Given the description of an element on the screen output the (x, y) to click on. 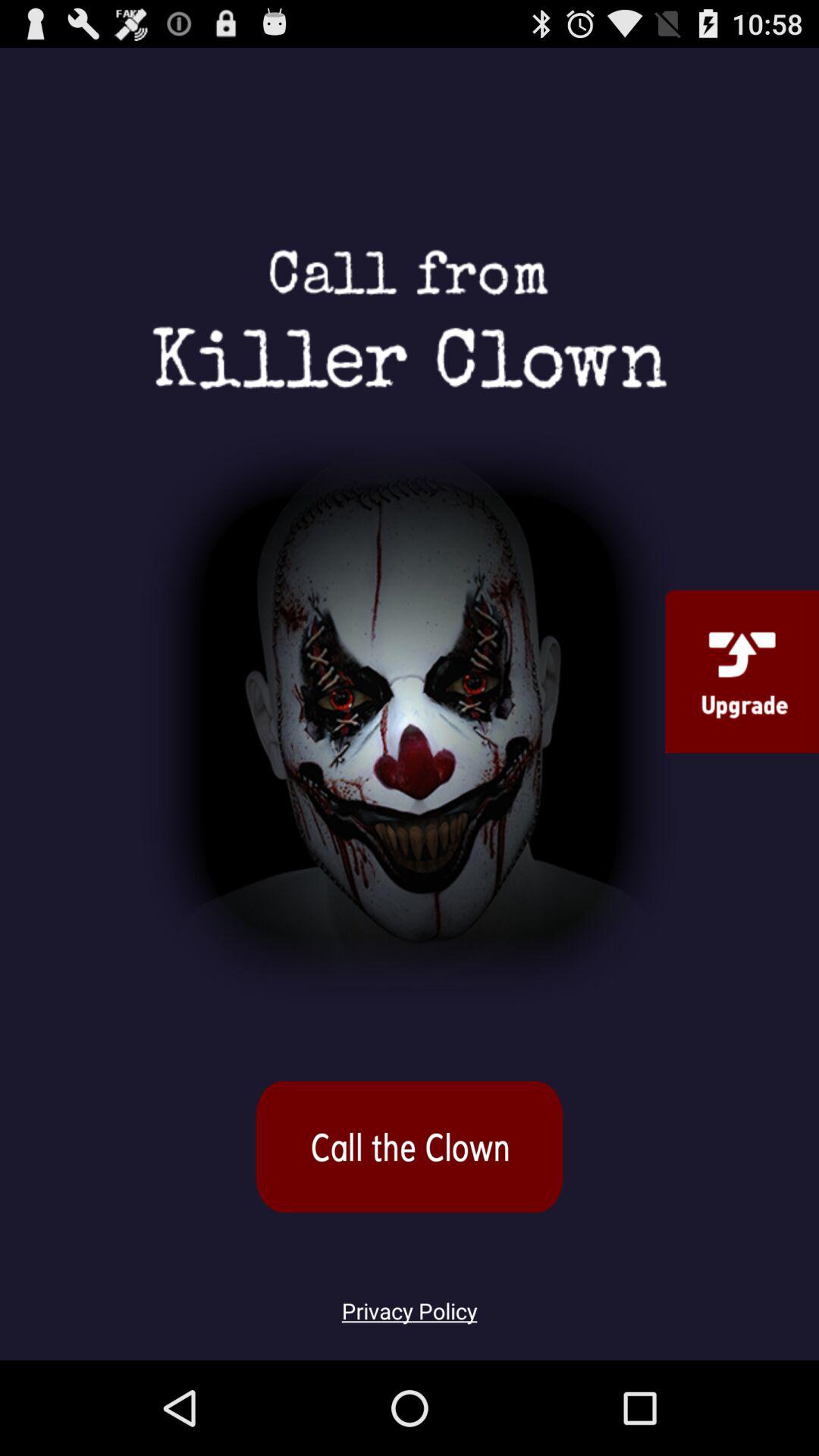
upgrade (742, 671)
